Given the description of an element on the screen output the (x, y) to click on. 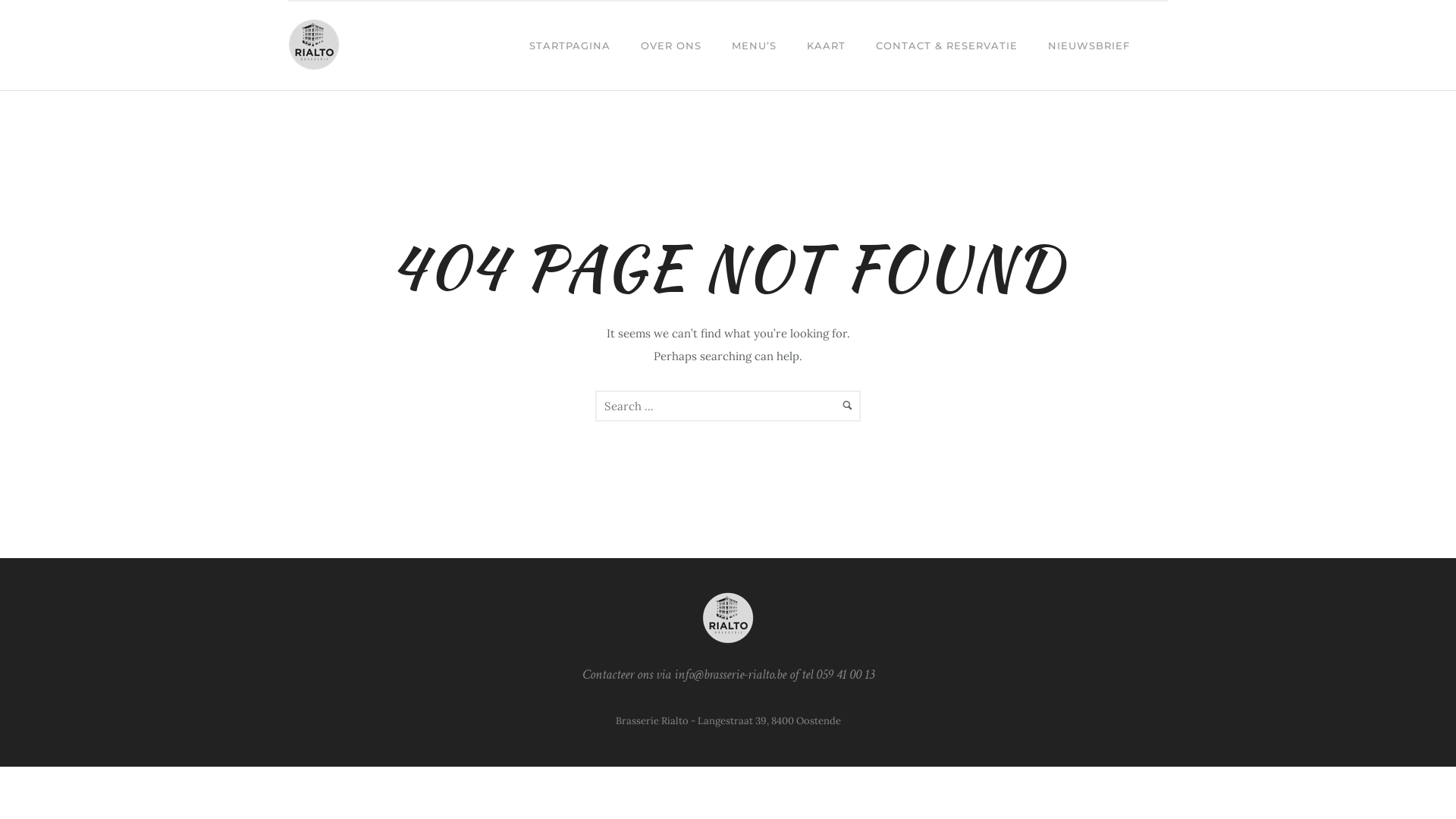
CONTACT & RESERVATIE Element type: text (946, 45)
OVER ONS Element type: text (670, 45)
KAART Element type: text (825, 45)
NIEUWSBRIEF Element type: text (1088, 45)
STARTPAGINA Element type: text (569, 45)
